Given the description of an element on the screen output the (x, y) to click on. 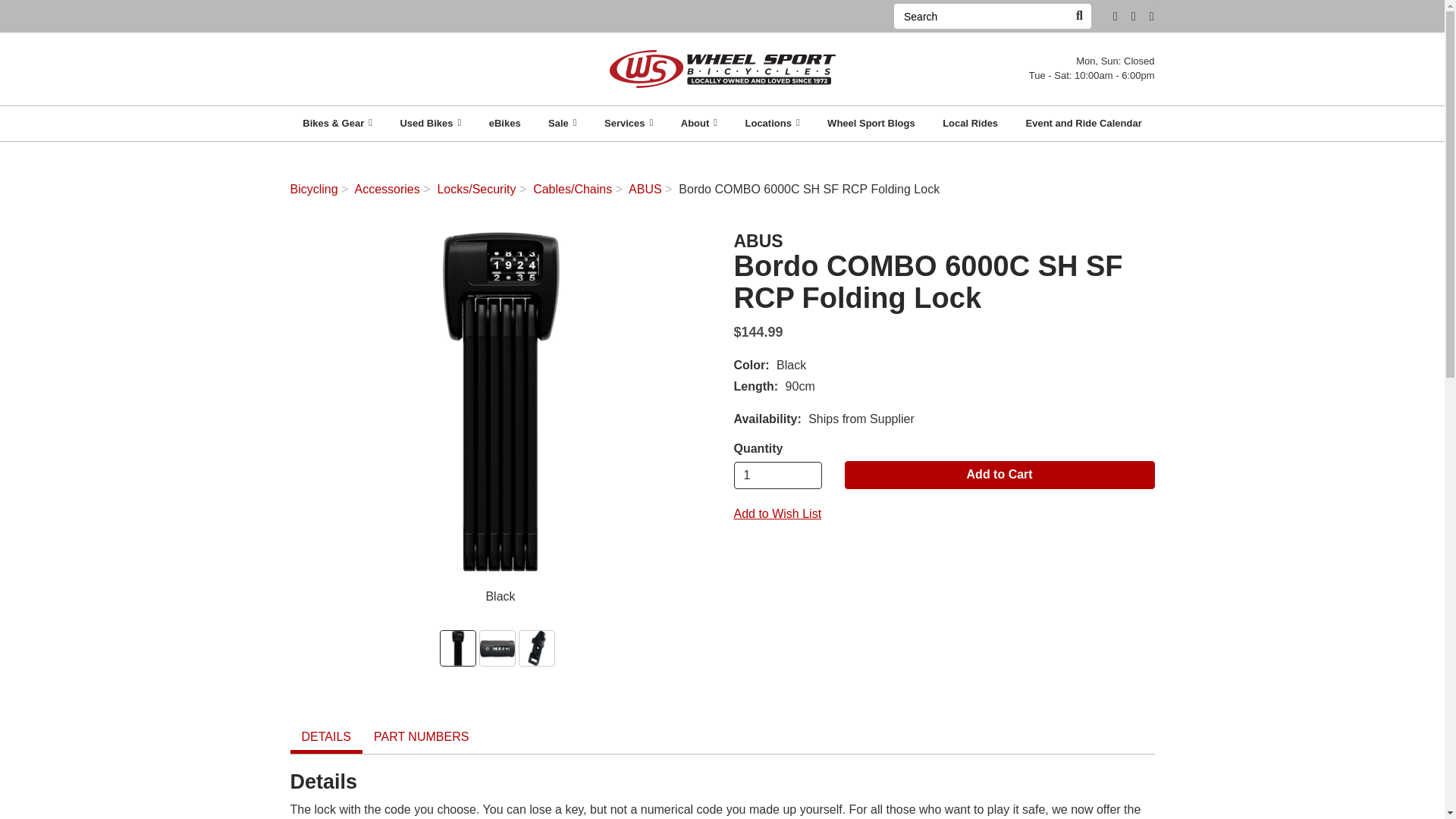
Search (980, 16)
Store (1115, 16)
Cart (1151, 16)
Color: Black (458, 647)
Account (1133, 16)
Cart (1151, 16)
Search (1078, 16)
Wheel Sport Bicycles Home Page (721, 67)
Store (1115, 16)
My Account (1133, 16)
ABUS Bordo COMBO 6000C SH SF RCP Folding Lock Black (500, 402)
1 (777, 474)
